Given the description of an element on the screen output the (x, y) to click on. 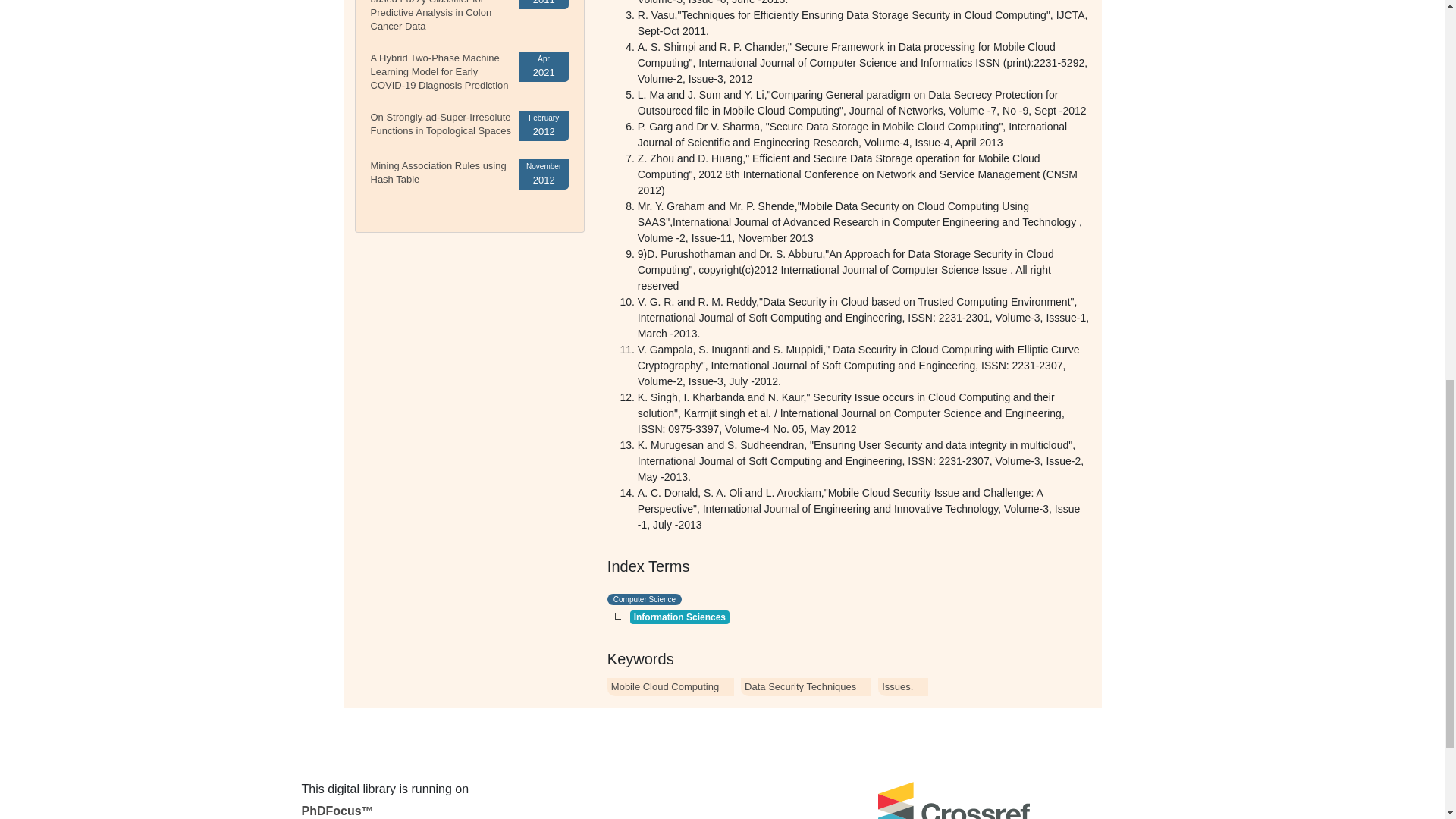
Mining Association Rules using Hash Table (437, 172)
